Given the description of an element on the screen output the (x, y) to click on. 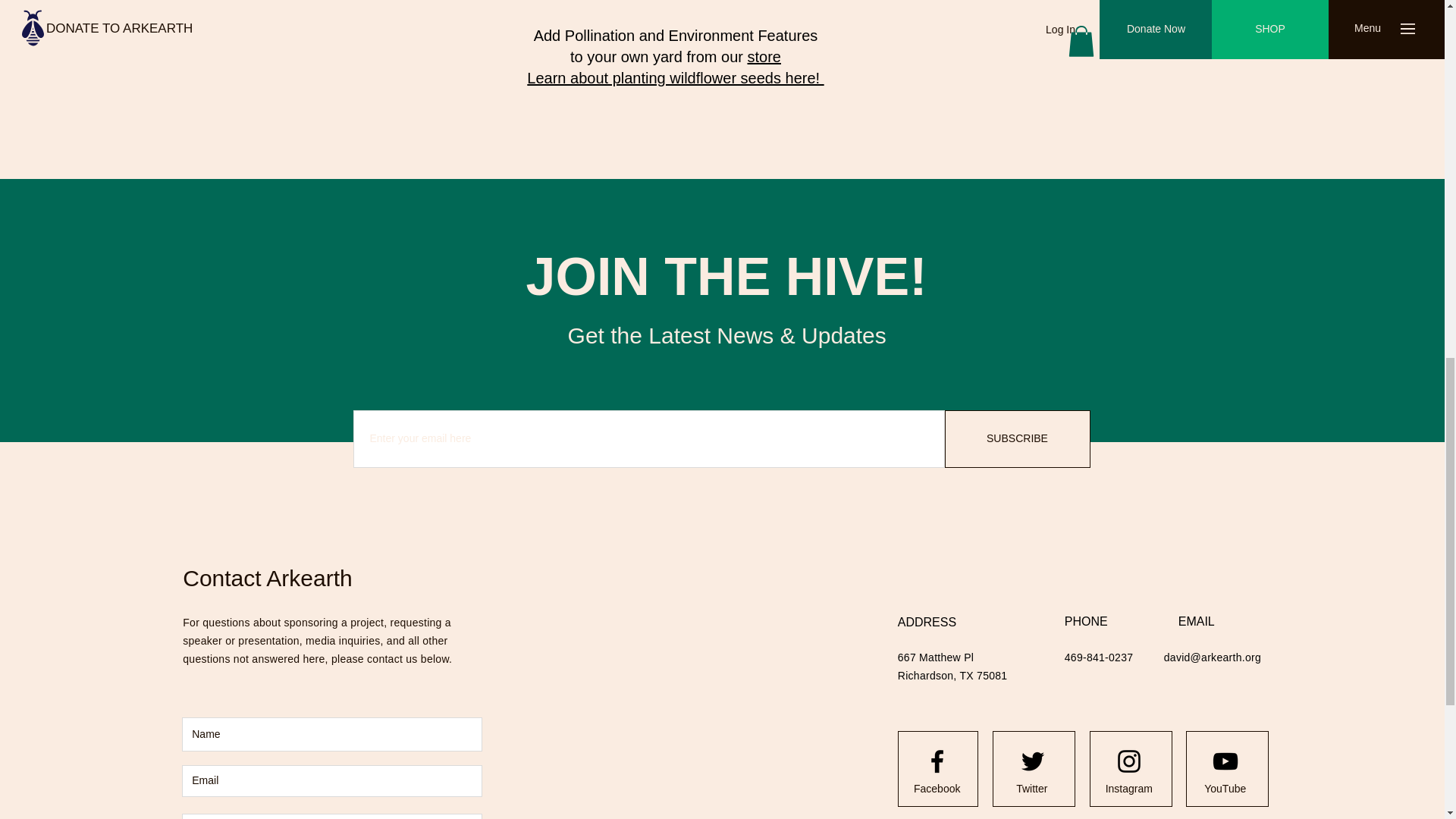
SUBSCRIBE (1017, 438)
YouTube (1224, 788)
Facebook (936, 788)
Twitter (1031, 788)
Instagram (1128, 788)
